Given the description of an element on the screen output the (x, y) to click on. 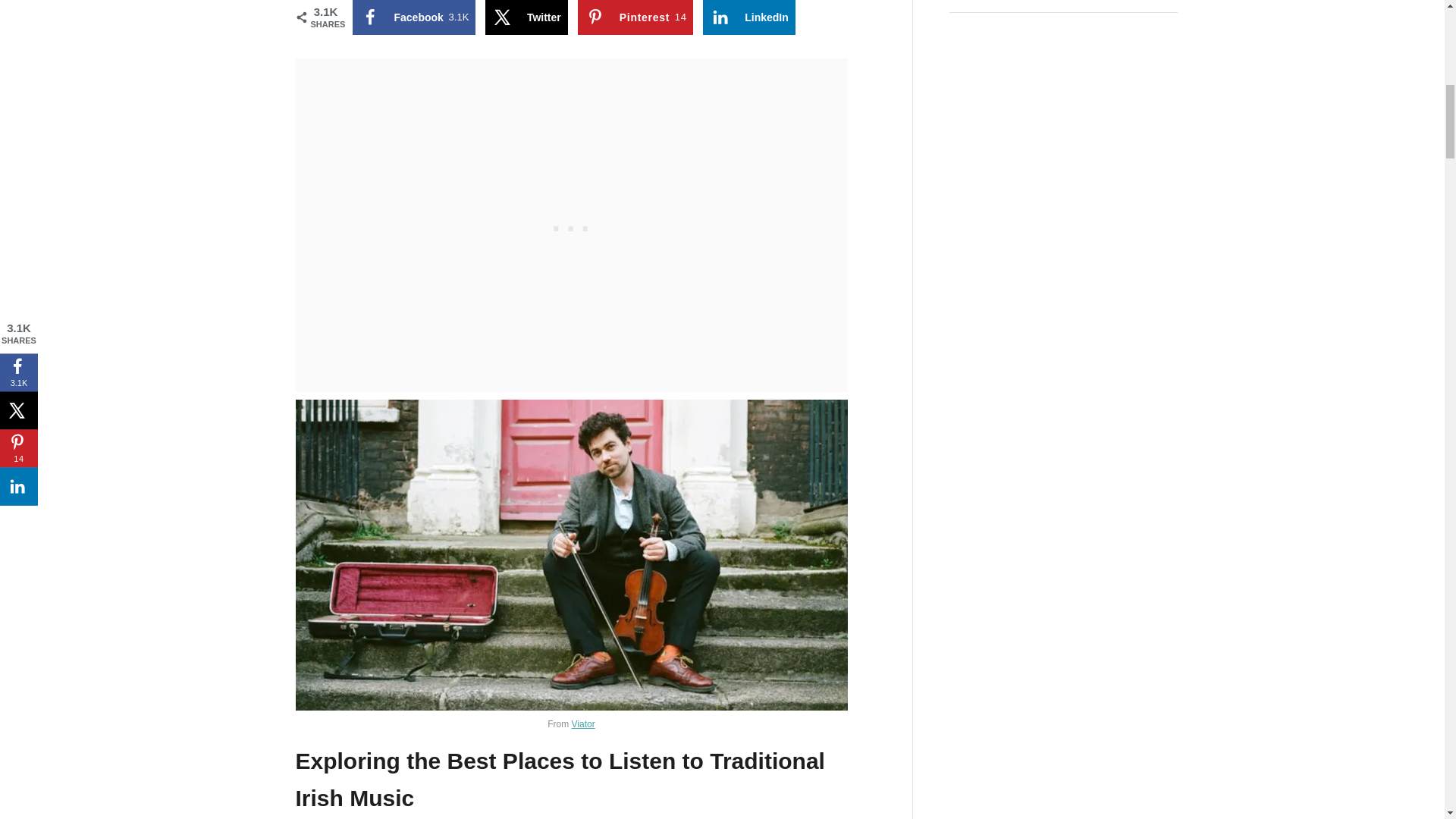
Share on Facebook (413, 17)
Save to Pinterest (635, 17)
Share on LinkedIn (635, 17)
Share on X (748, 17)
LinkedIn (525, 17)
Twitter (748, 17)
Viator (525, 17)
